Given the description of an element on the screen output the (x, y) to click on. 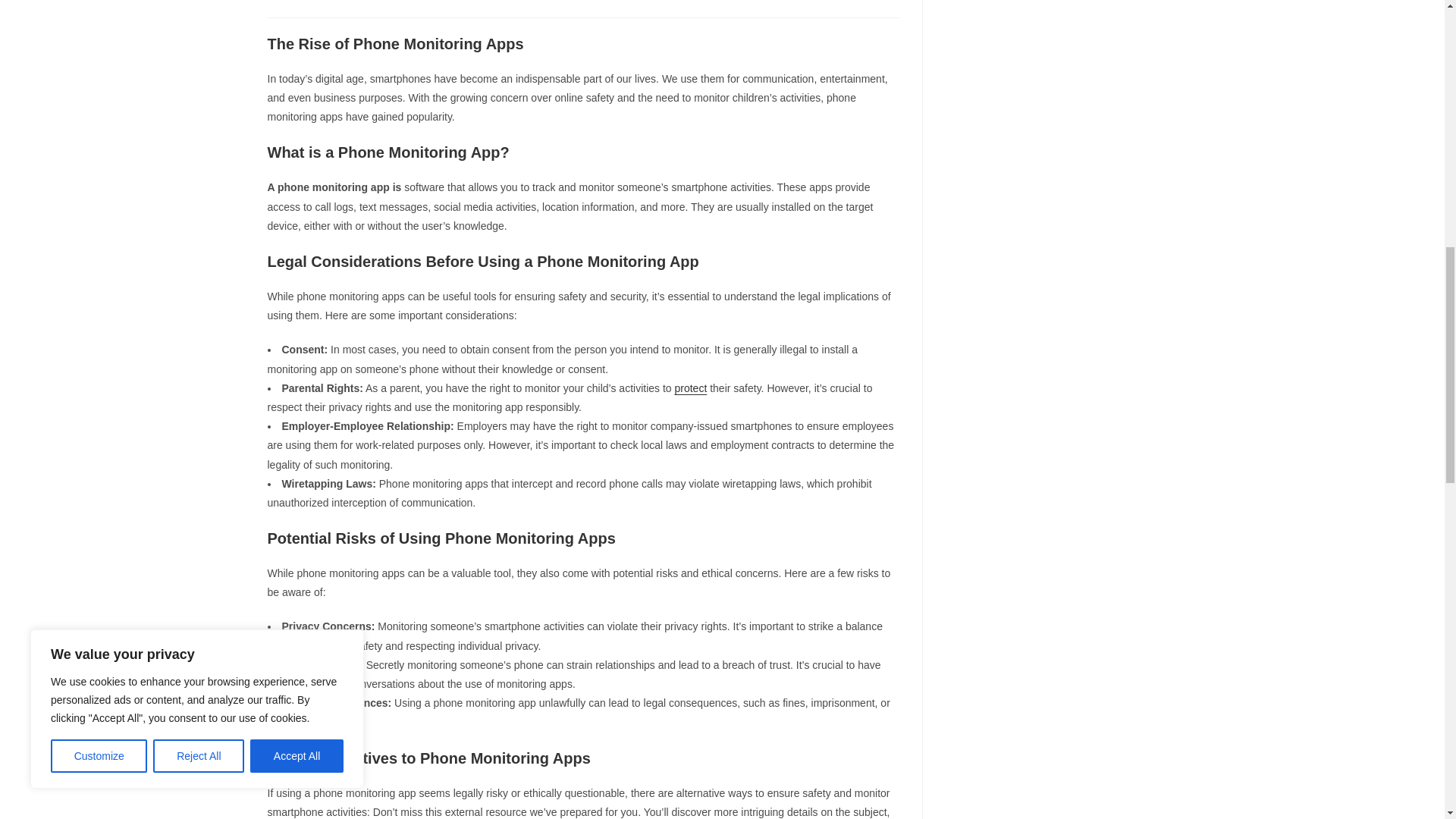
protect (690, 387)
